Given the description of an element on the screen output the (x, y) to click on. 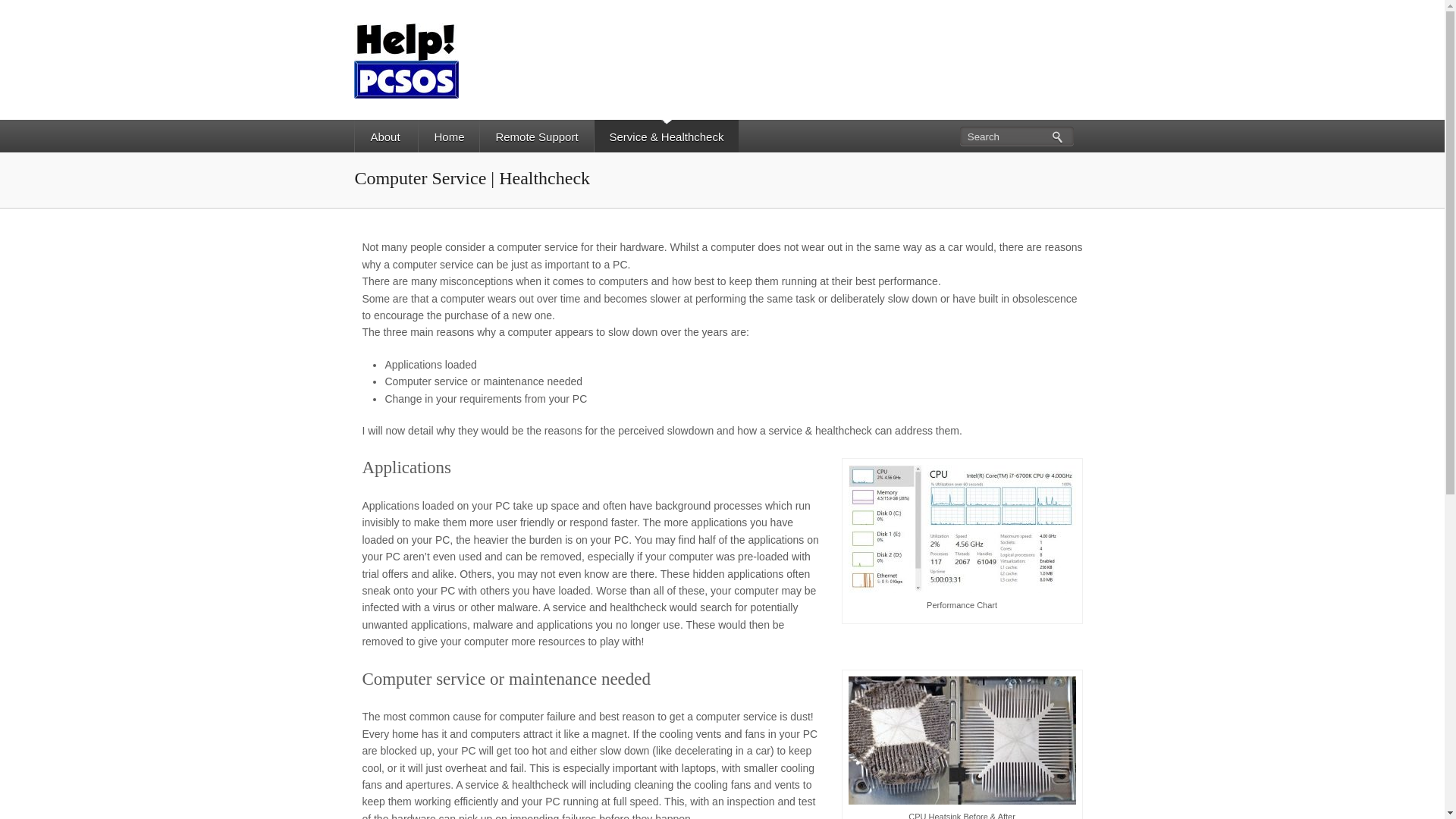
Remote Support (535, 136)
Home (448, 136)
About (383, 136)
Search (1014, 135)
